Given the description of an element on the screen output the (x, y) to click on. 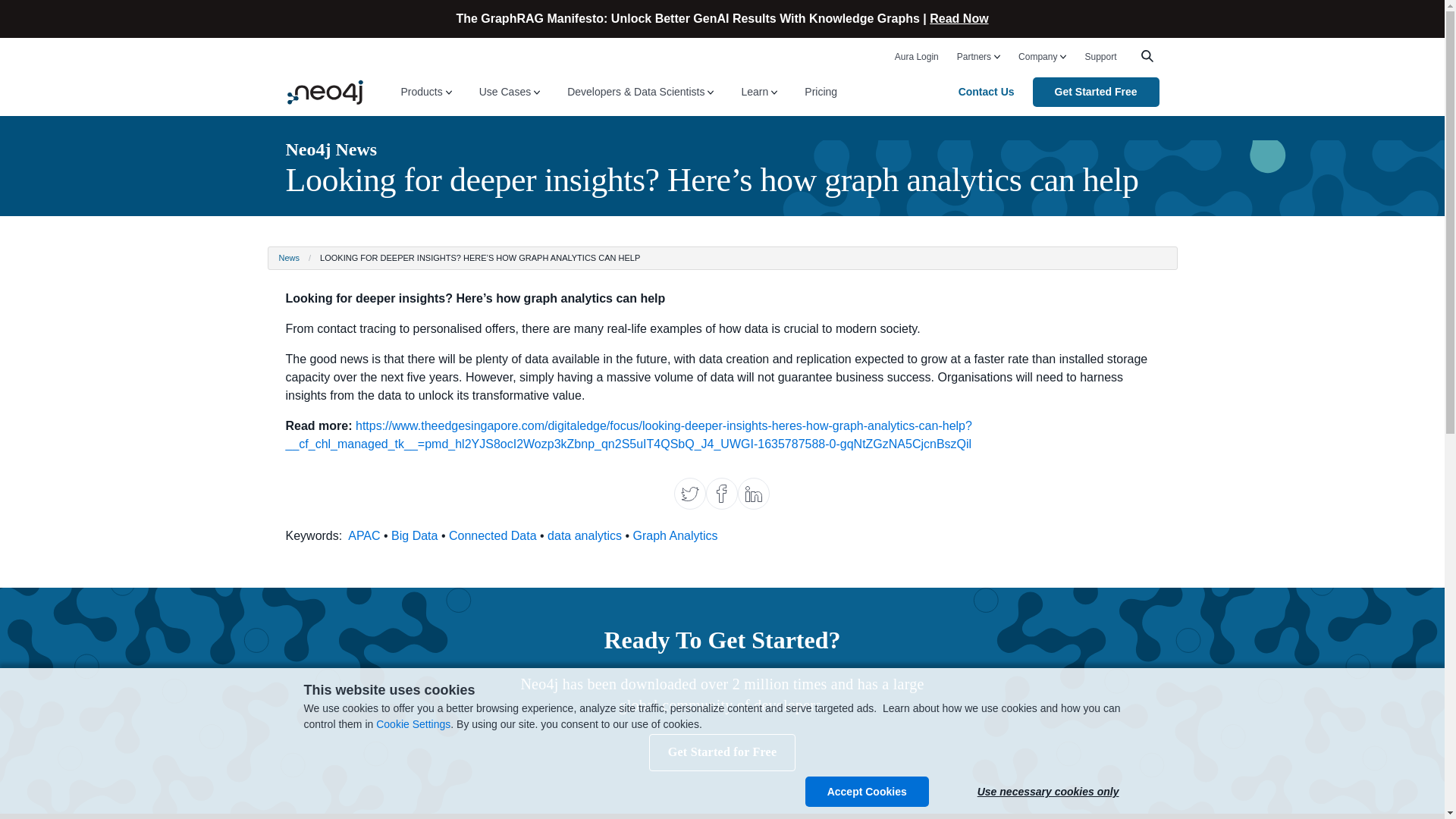
Use necessary cookies only (1048, 791)
Read Now (959, 18)
Accept Cookies (866, 791)
Cookie Settings (412, 724)
